Given the description of an element on the screen output the (x, y) to click on. 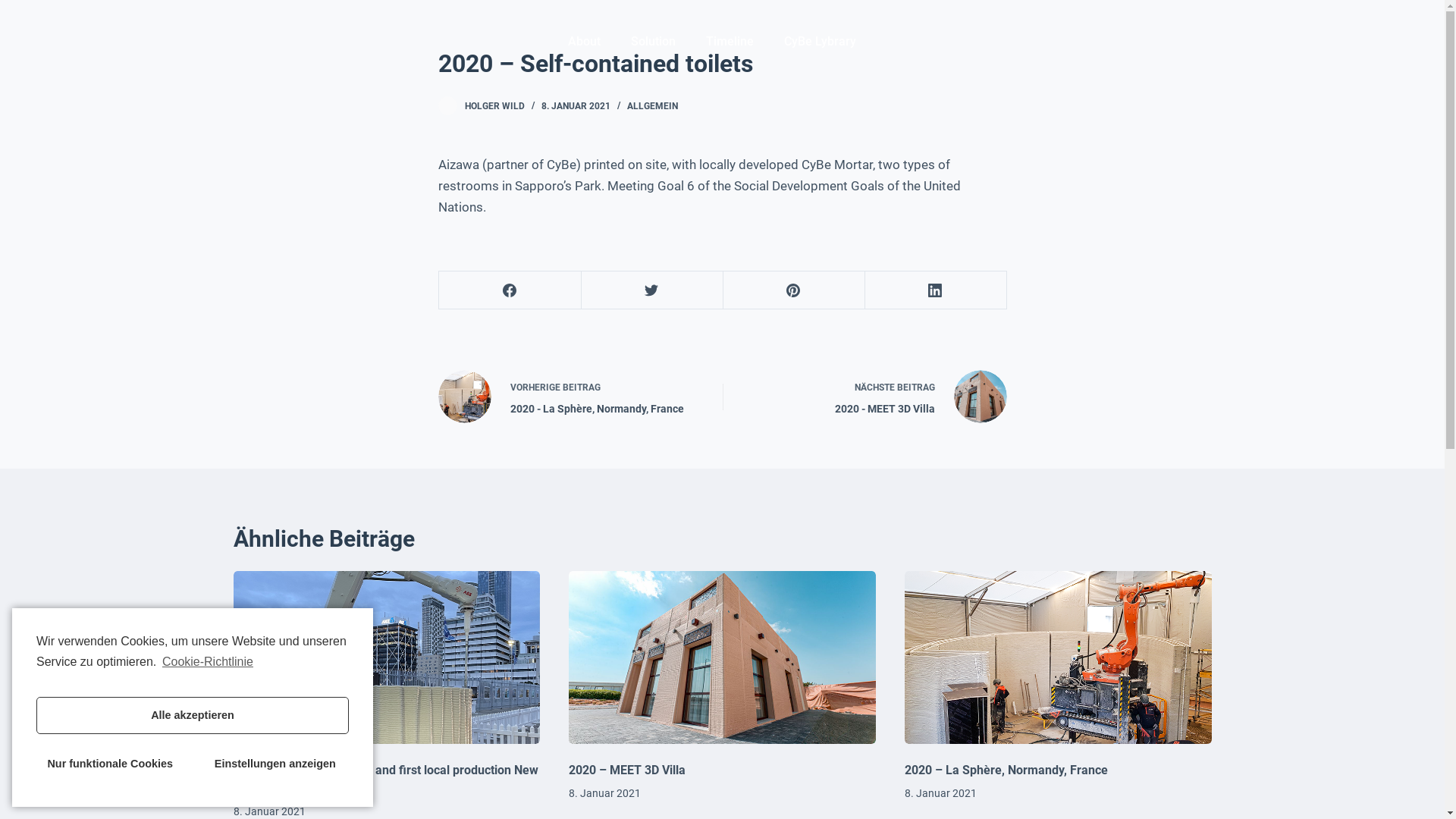
CyBe Lybrary Element type: text (819, 41)
About Element type: text (583, 41)
Einstellungen anzeigen Element type: text (274, 763)
Cookie-Richtlinie Element type: text (206, 661)
HOLGER WILD Element type: text (494, 105)
Nur funktionale Cookies Element type: text (109, 763)
ALLGEMEIN Element type: text (651, 105)
Solution Element type: text (652, 41)
Zum Inhalt springen Element type: text (15, 7)
Timeline Element type: text (729, 41)
Alle akzeptieren Element type: text (192, 715)
